Given the description of an element on the screen output the (x, y) to click on. 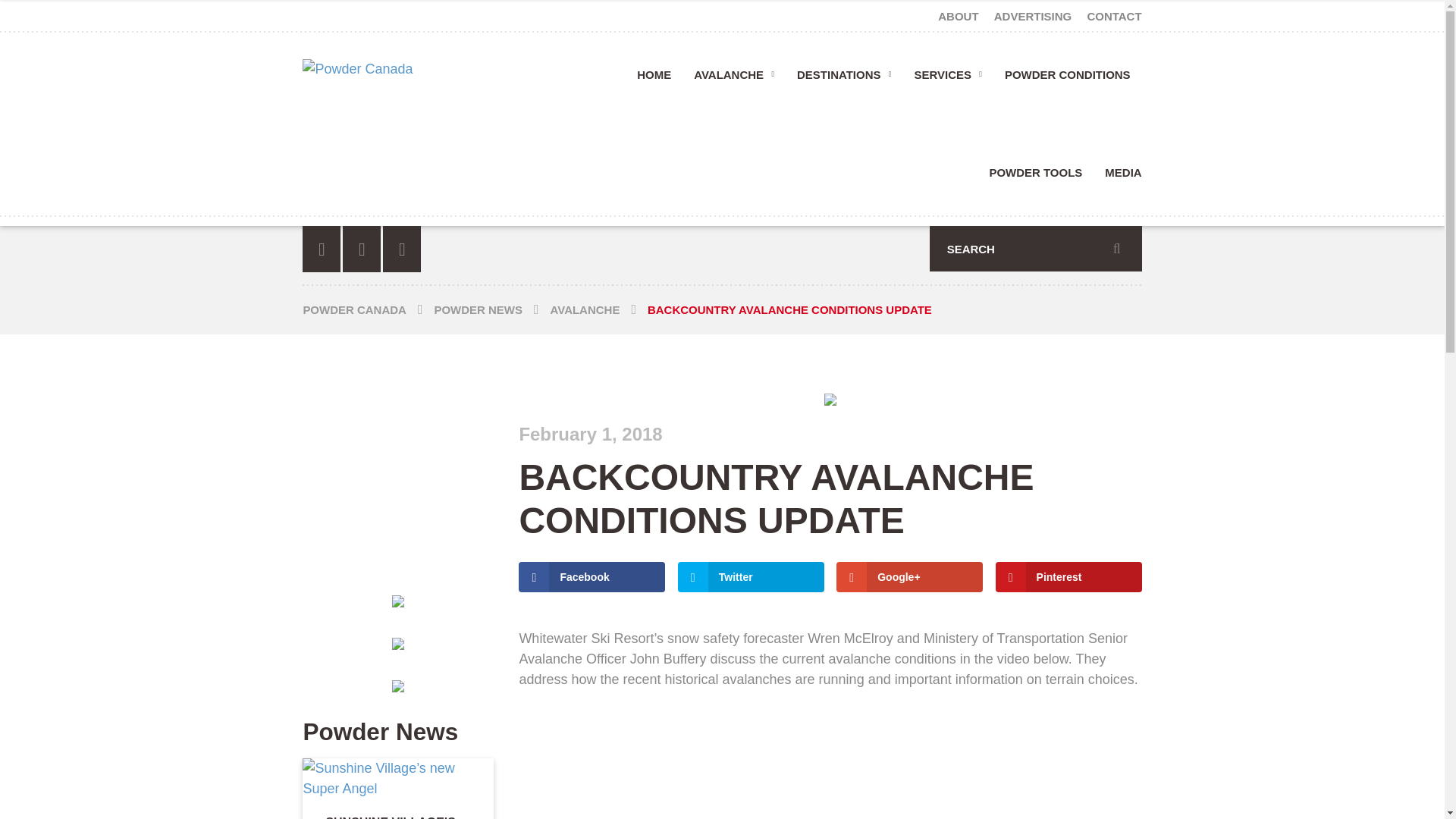
Go to Powder Canada. (367, 309)
DESTINATIONS (844, 79)
POWDER NEWS (491, 309)
ADVERTISING (1032, 15)
POWDER CANADA (367, 309)
POWDER TOOLS (1034, 177)
AVALANCHE (734, 79)
SERVICES (947, 79)
Go to the Avalanche Category archives. (598, 309)
POWDER CONDITIONS (1066, 79)
CONTACT (1110, 15)
ABOUT (960, 15)
AVALANCHE (598, 309)
Go to Powder News. (491, 309)
